Given the description of an element on the screen output the (x, y) to click on. 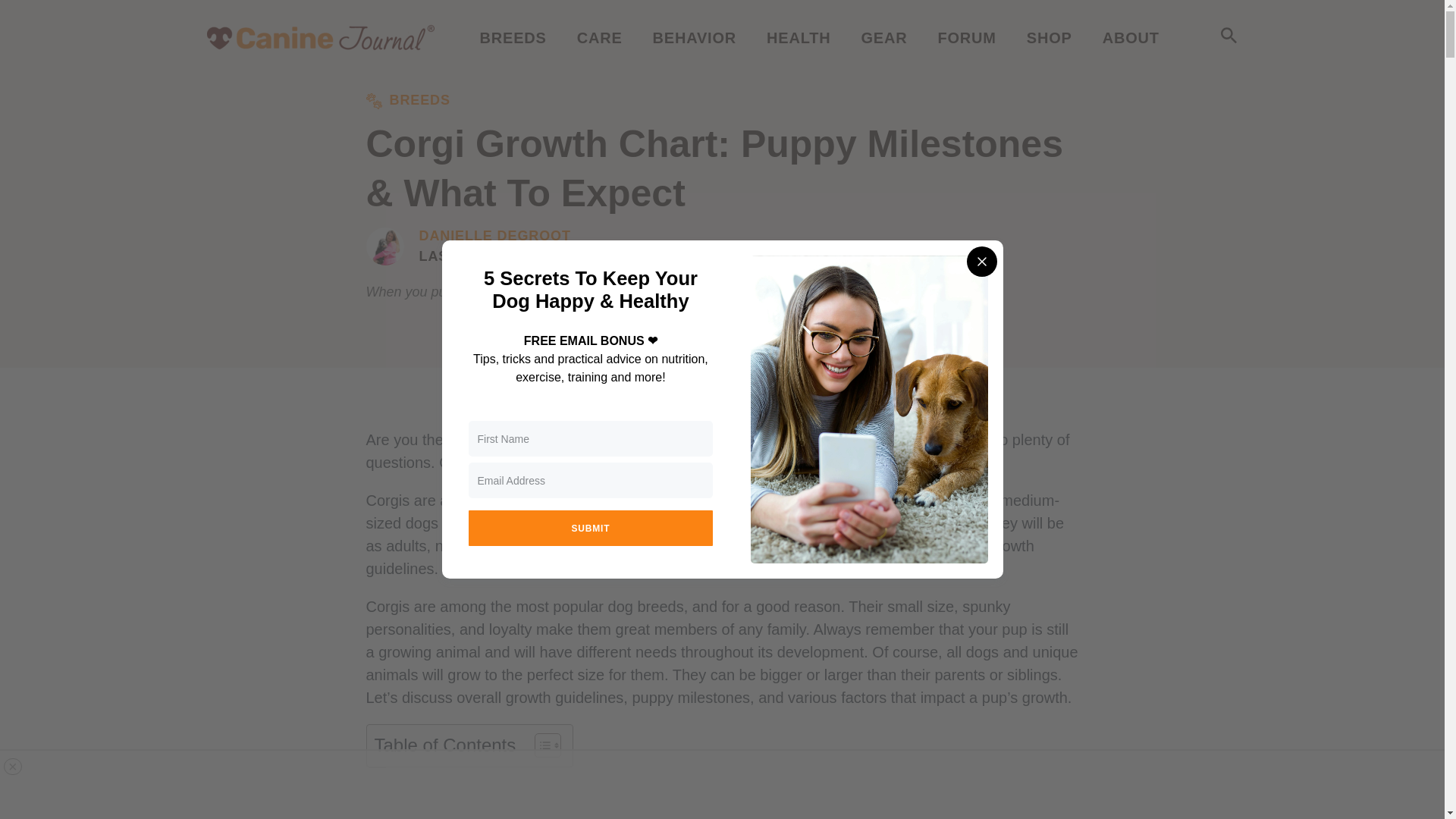
BREEDS (512, 37)
FORUM (966, 37)
ABOUT (1130, 37)
Share on Reddit (833, 397)
Share on Pinterest (912, 397)
HEALTH (798, 37)
Share on Facebook (752, 397)
Share on Print (586, 397)
BEHAVIOR (694, 37)
Share on Email (520, 397)
Posts by Danielle DeGroot (494, 236)
Share on Copy Link (663, 397)
